Given the description of an element on the screen output the (x, y) to click on. 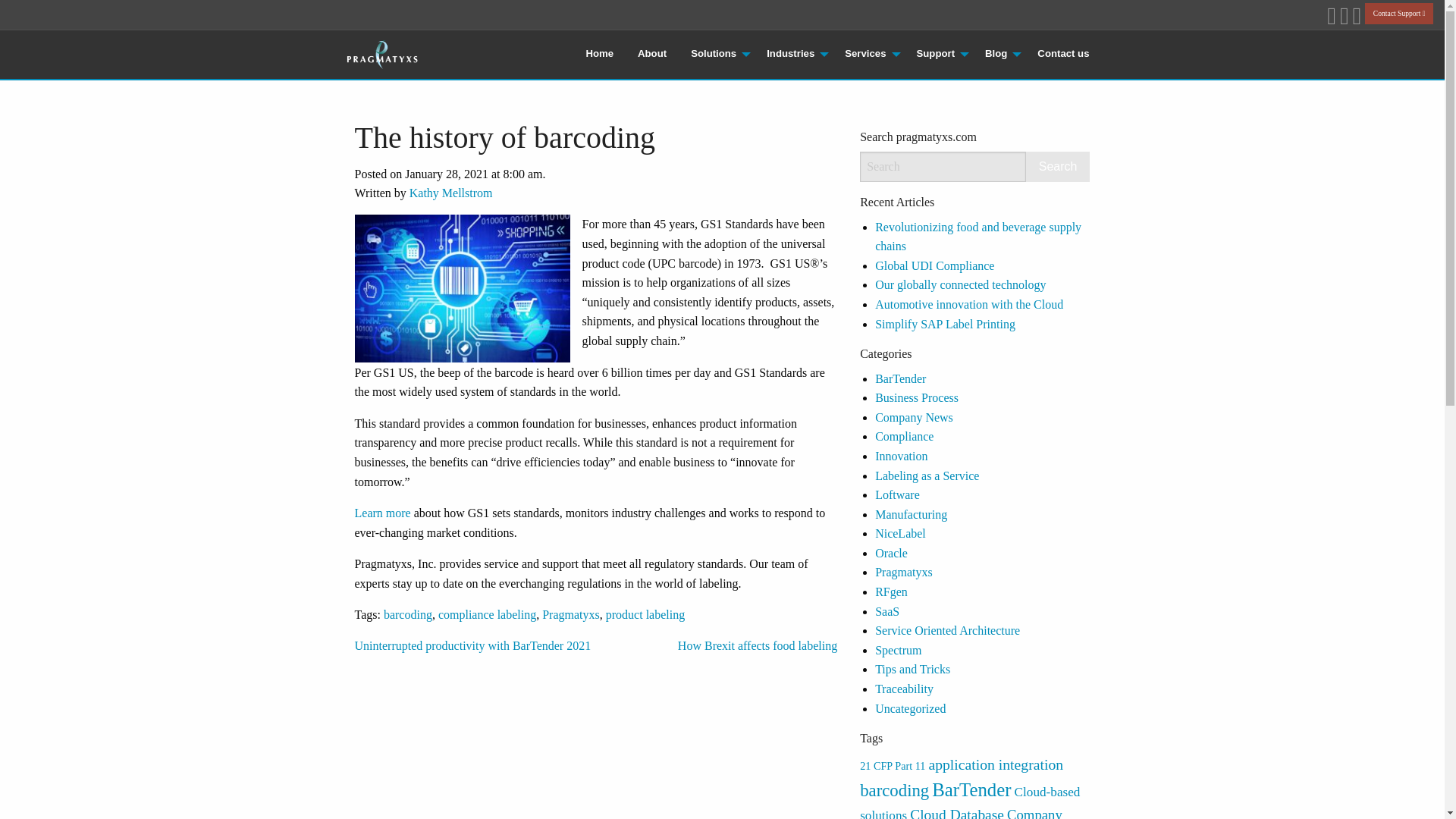
Support (938, 54)
Solutions (716, 54)
Industries (793, 54)
Home (599, 54)
Search (1058, 166)
About (652, 54)
Services (868, 54)
Contact Support (1398, 13)
